Given the description of an element on the screen output the (x, y) to click on. 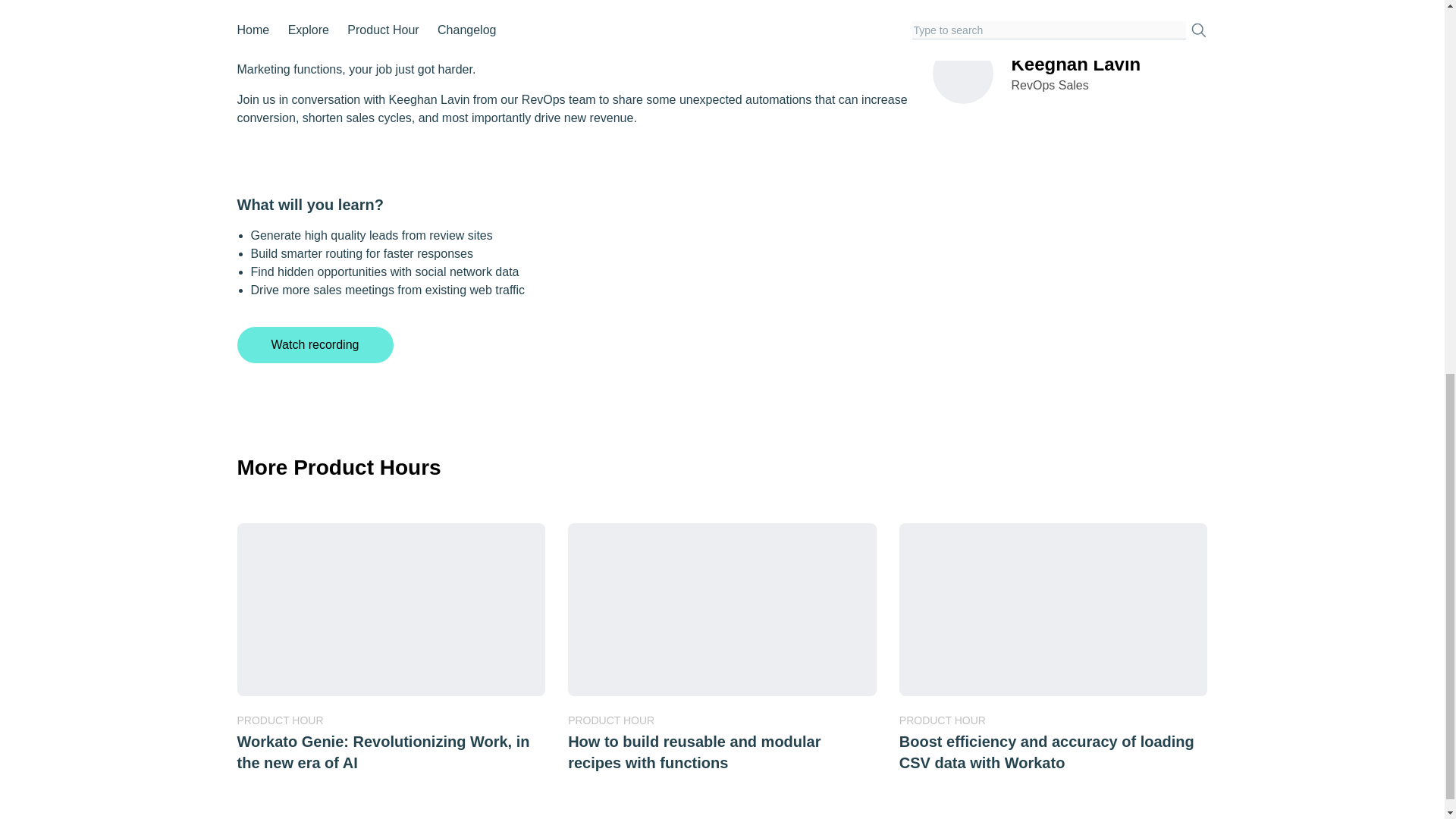
Watch recording (314, 344)
PRODUCT HOUR (610, 720)
PRODUCT HOUR (942, 720)
Workato Genie: Revolutionizing Work, in the new era of AI (382, 752)
How to build reusable and modular recipes with functions (694, 752)
PRODUCT HOUR (279, 720)
